Given the description of an element on the screen output the (x, y) to click on. 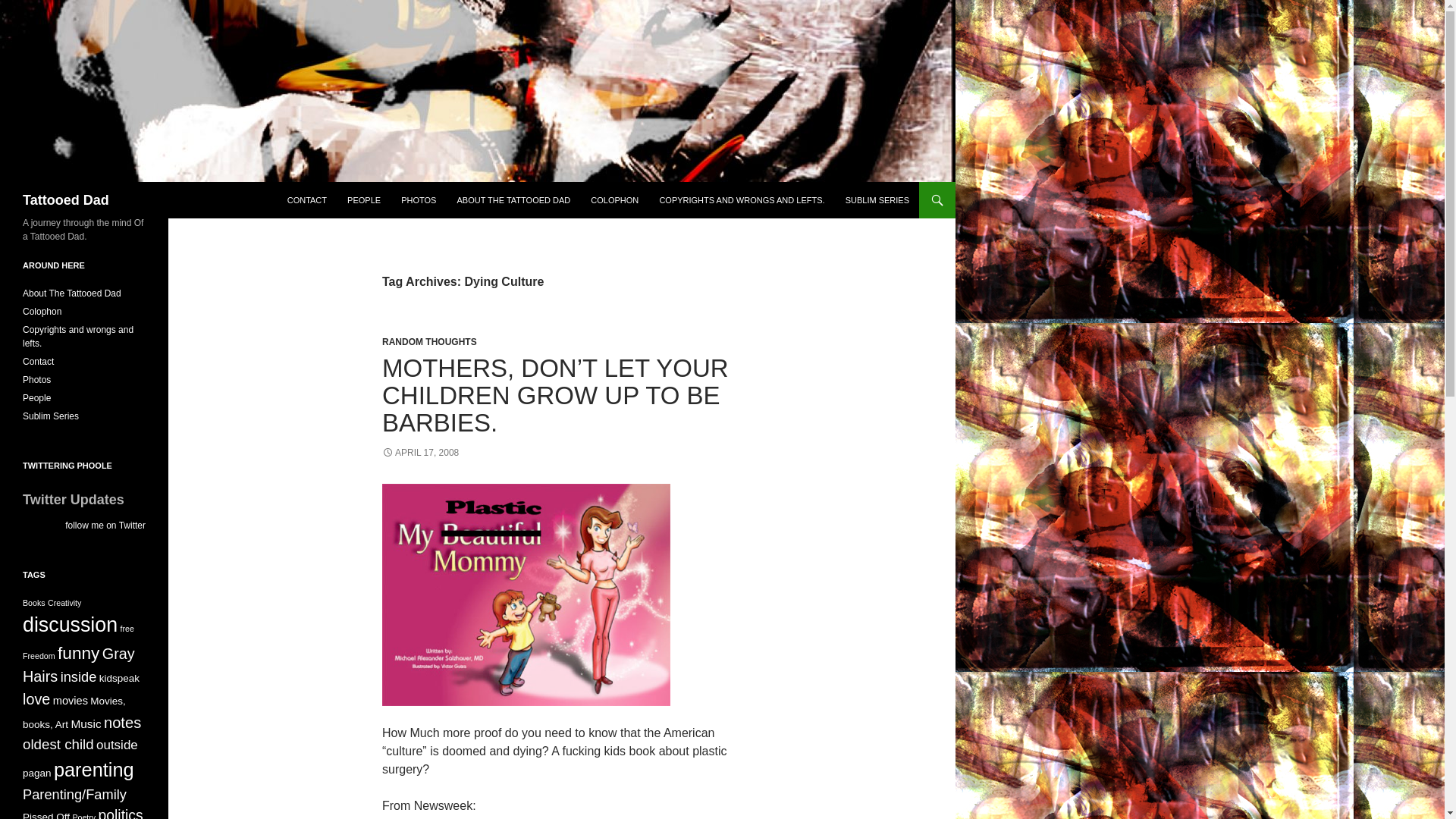
COLOPHON (613, 199)
COPYRIGHTS AND WRONGS AND LEFTS. (740, 199)
Freedom (39, 655)
APRIL 17, 2008 (419, 452)
PEOPLE (363, 199)
free (126, 628)
People (36, 398)
PHOTOS (418, 199)
CONTACT (307, 199)
Creativity (64, 602)
Contact (38, 361)
funny (78, 652)
ABOUT THE TATTOOED DAD (513, 199)
Sublim Series (50, 416)
Colophon (42, 311)
